Given the description of an element on the screen output the (x, y) to click on. 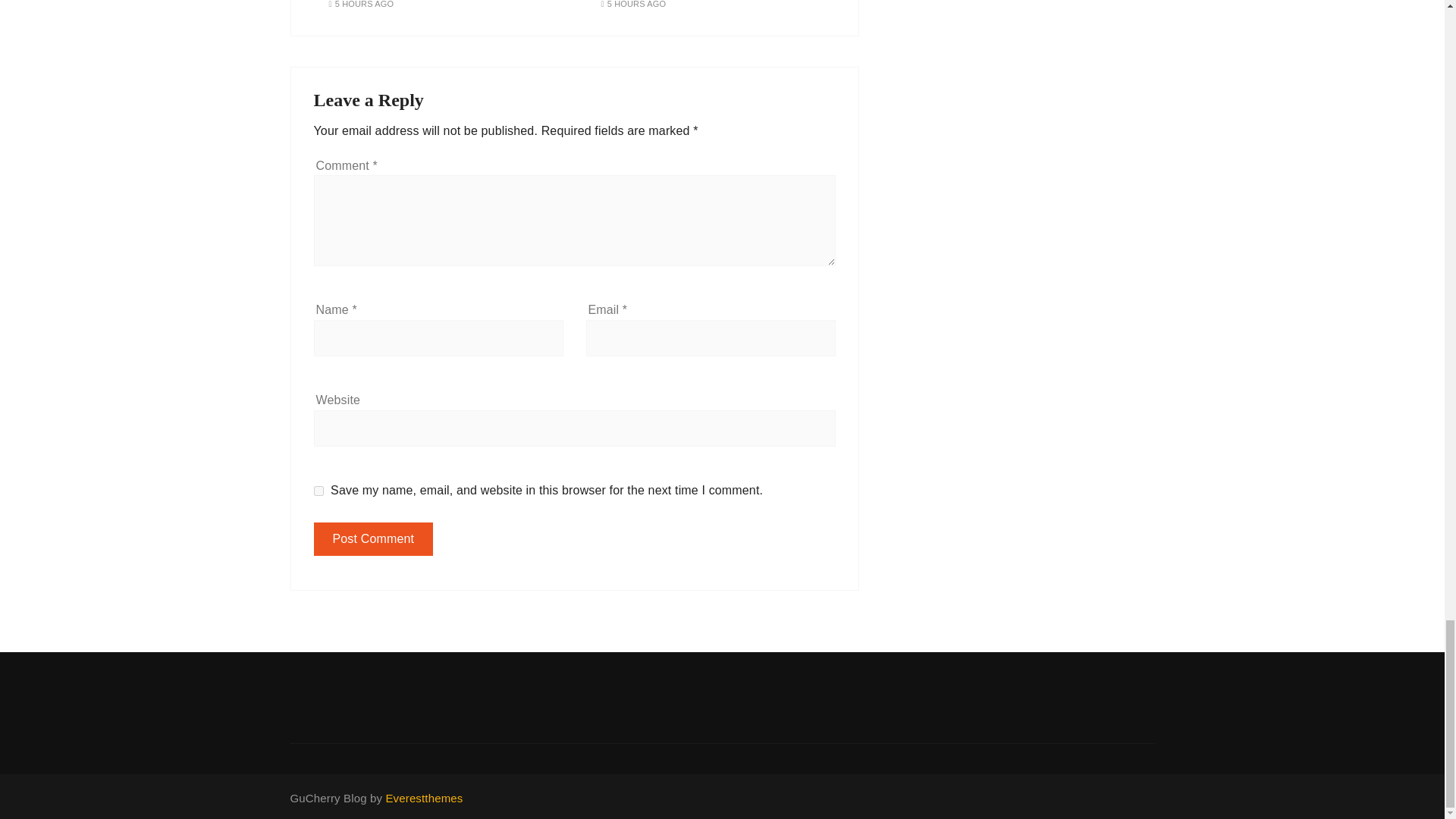
Everestthemes (424, 797)
Post Comment (373, 539)
yes (318, 491)
Post Comment (373, 539)
